Given the description of an element on the screen output the (x, y) to click on. 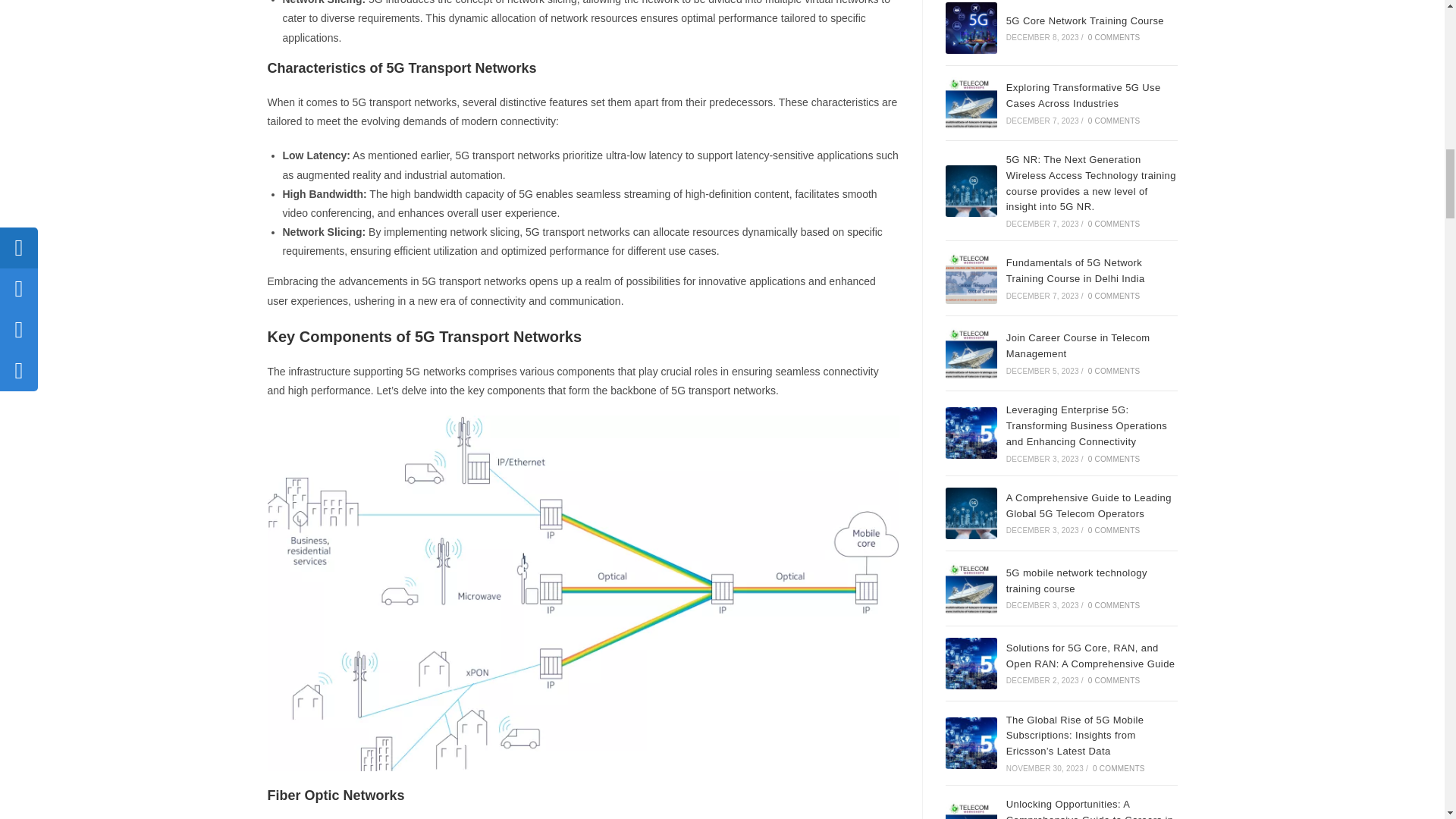
5G Core Network Training Course (969, 28)
